Given the description of an element on the screen output the (x, y) to click on. 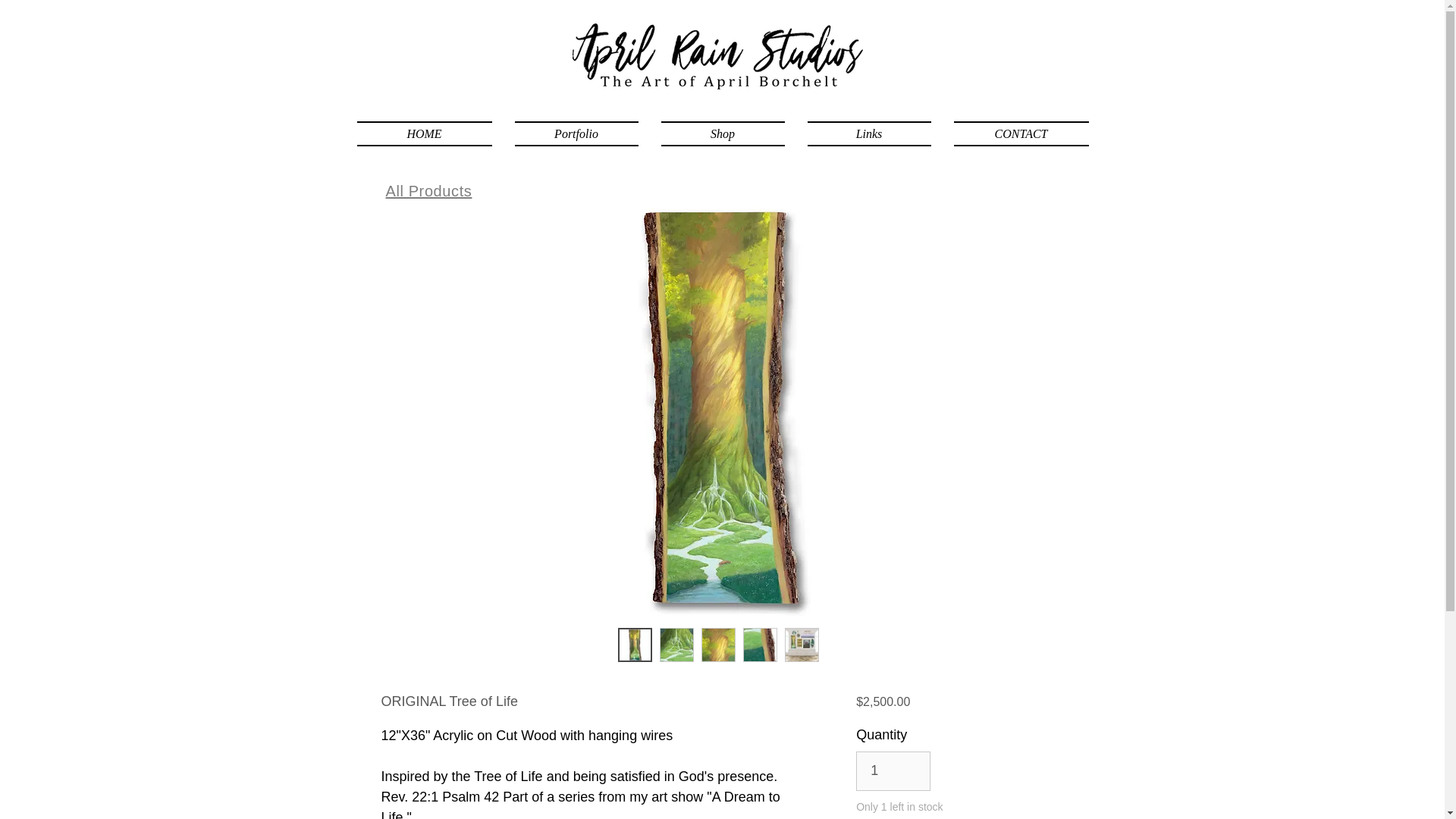
HOME (429, 133)
Links (869, 133)
1 (893, 771)
All Products (428, 190)
CONTACT (1014, 133)
Portfolio (576, 133)
